Given the description of an element on the screen output the (x, y) to click on. 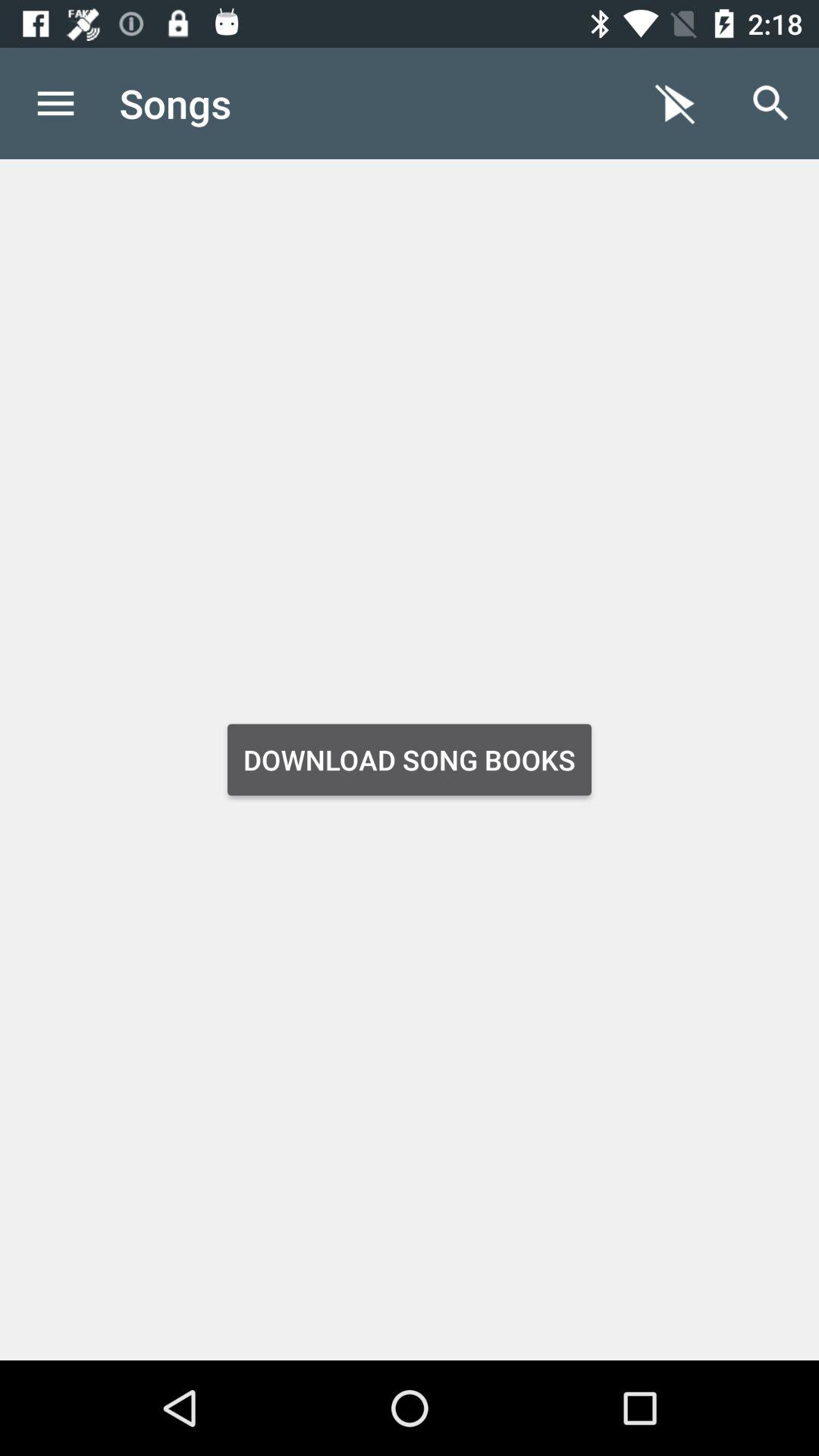
jump to download song books item (409, 759)
